Given the description of an element on the screen output the (x, y) to click on. 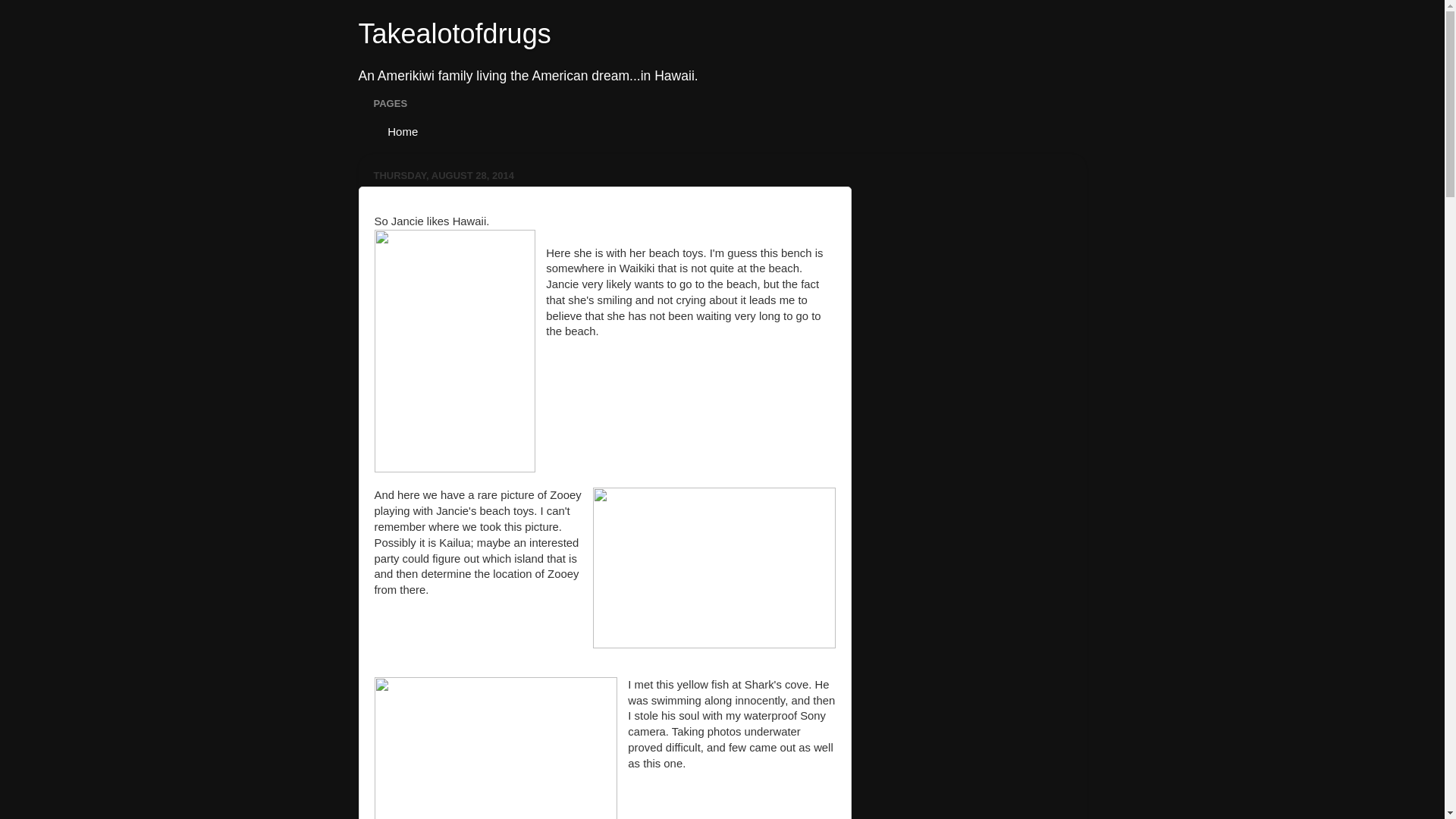
Home (400, 130)
Takealotofdrugs (454, 33)
